Given the description of an element on the screen output the (x, y) to click on. 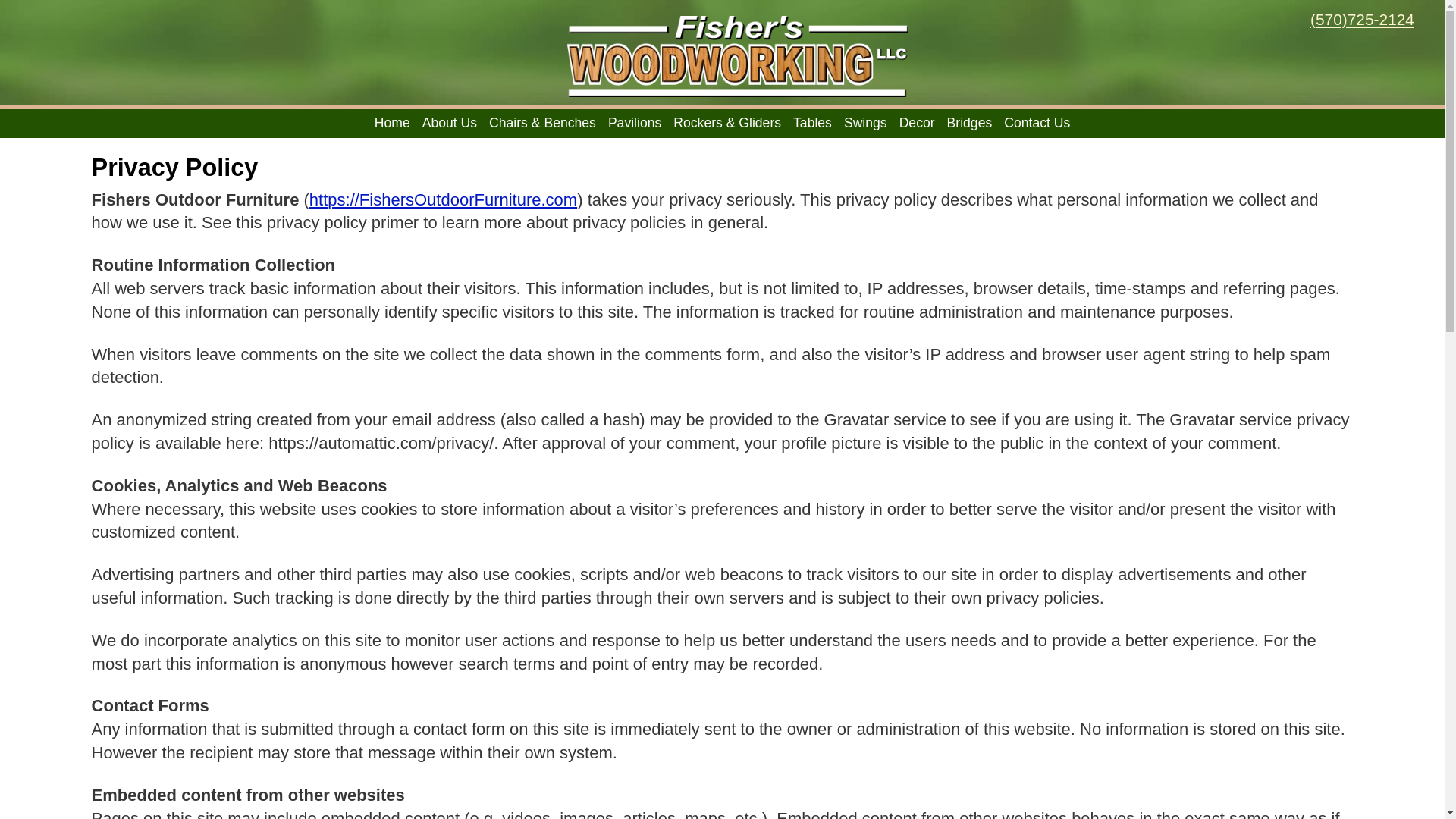
Pavilions (634, 123)
Contact Us (1037, 123)
About Us (449, 123)
Home (392, 123)
Tables (812, 123)
Bridges (969, 123)
Swings (865, 123)
Decor (917, 123)
